Given the description of an element on the screen output the (x, y) to click on. 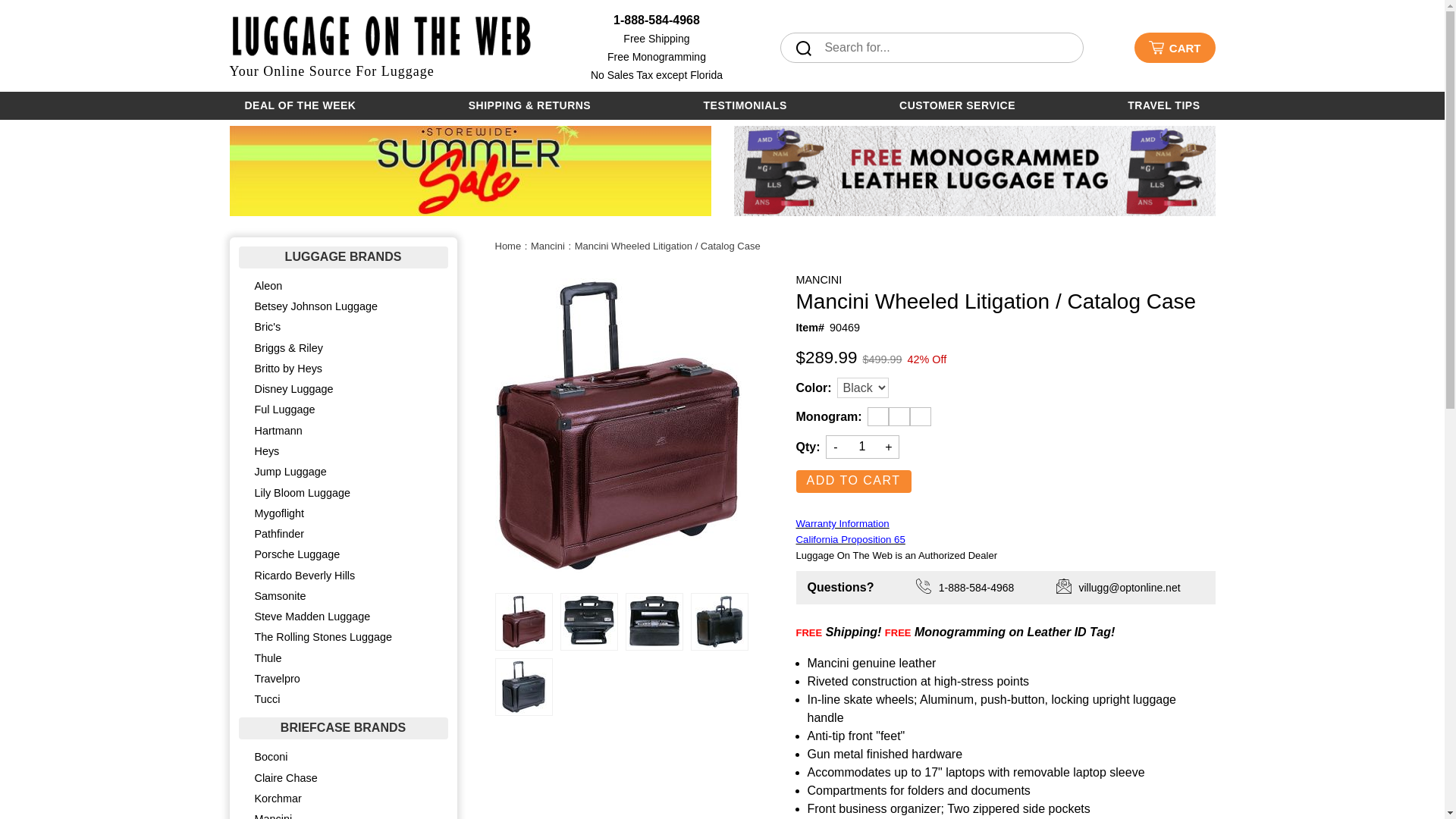
1-888-584-4968 (656, 20)
TRAVEL TIPS (1163, 105)
Aleon (342, 286)
TESTIMONIALS (745, 105)
Add to Cart (853, 481)
Add to Cart (853, 481)
Warranty Information (842, 522)
Jump Luggage (342, 471)
Britto by Heys (342, 368)
Cart (1174, 47)
Lily Bloom Luggage (342, 493)
Hartmann (342, 430)
Porsche Luggage (342, 554)
CUSTOMER SERVICE (956, 105)
Mancini (547, 245)
